Given the description of an element on the screen output the (x, y) to click on. 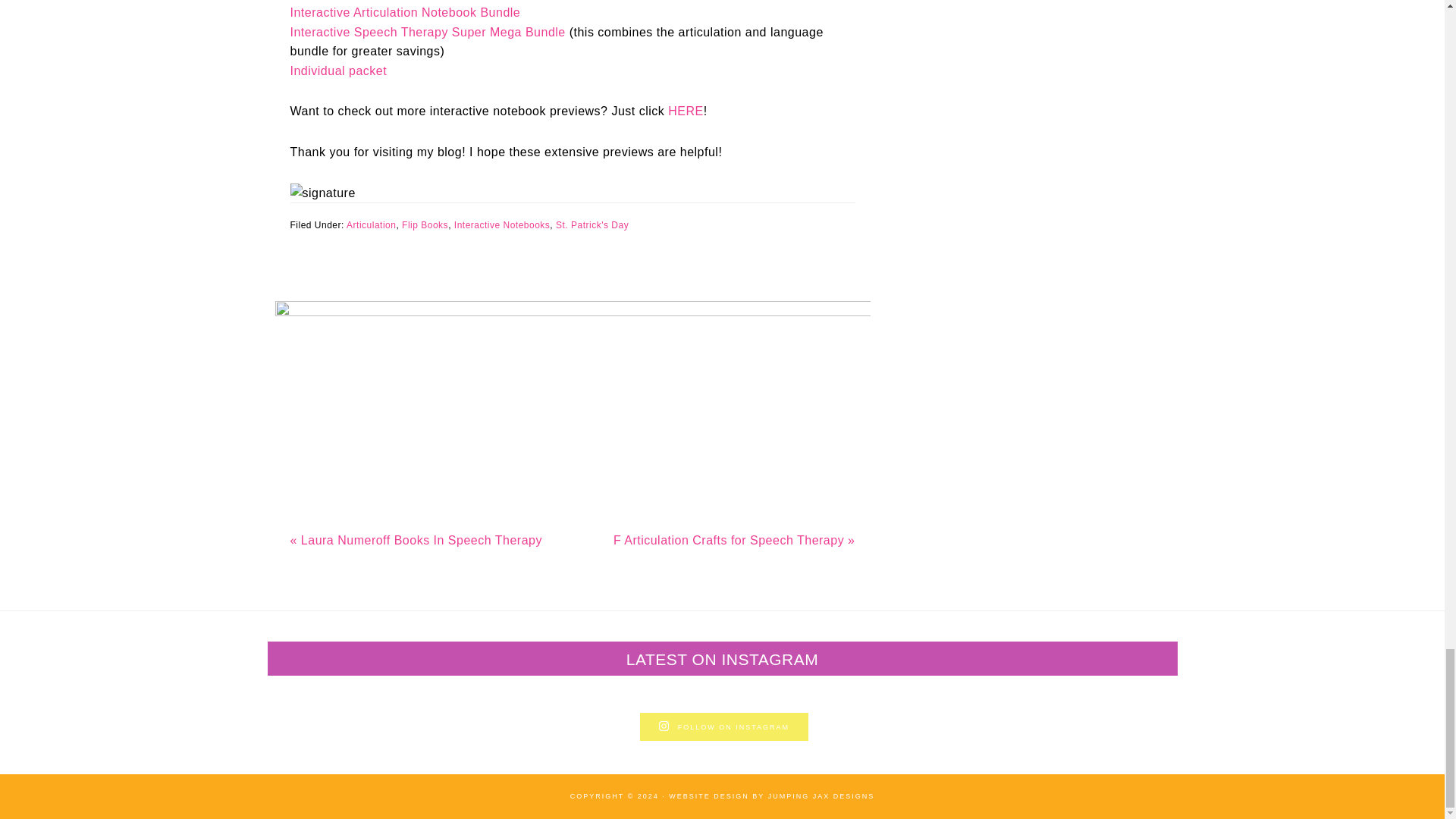
HERE (685, 110)
Individual packet (338, 70)
WEBSITE DESIGN BY JUMPING JAX DESIGNS (771, 796)
Interactive Articulation Notebook Bundle (404, 11)
FOLLOW ON INSTAGRAM (724, 726)
Interactive Notebooks (502, 225)
St. Patrick's Day (592, 225)
Flip Books (424, 225)
Interactive Speech Therapy Super Mega Bundle (426, 31)
Articulation (371, 225)
